Given the description of an element on the screen output the (x, y) to click on. 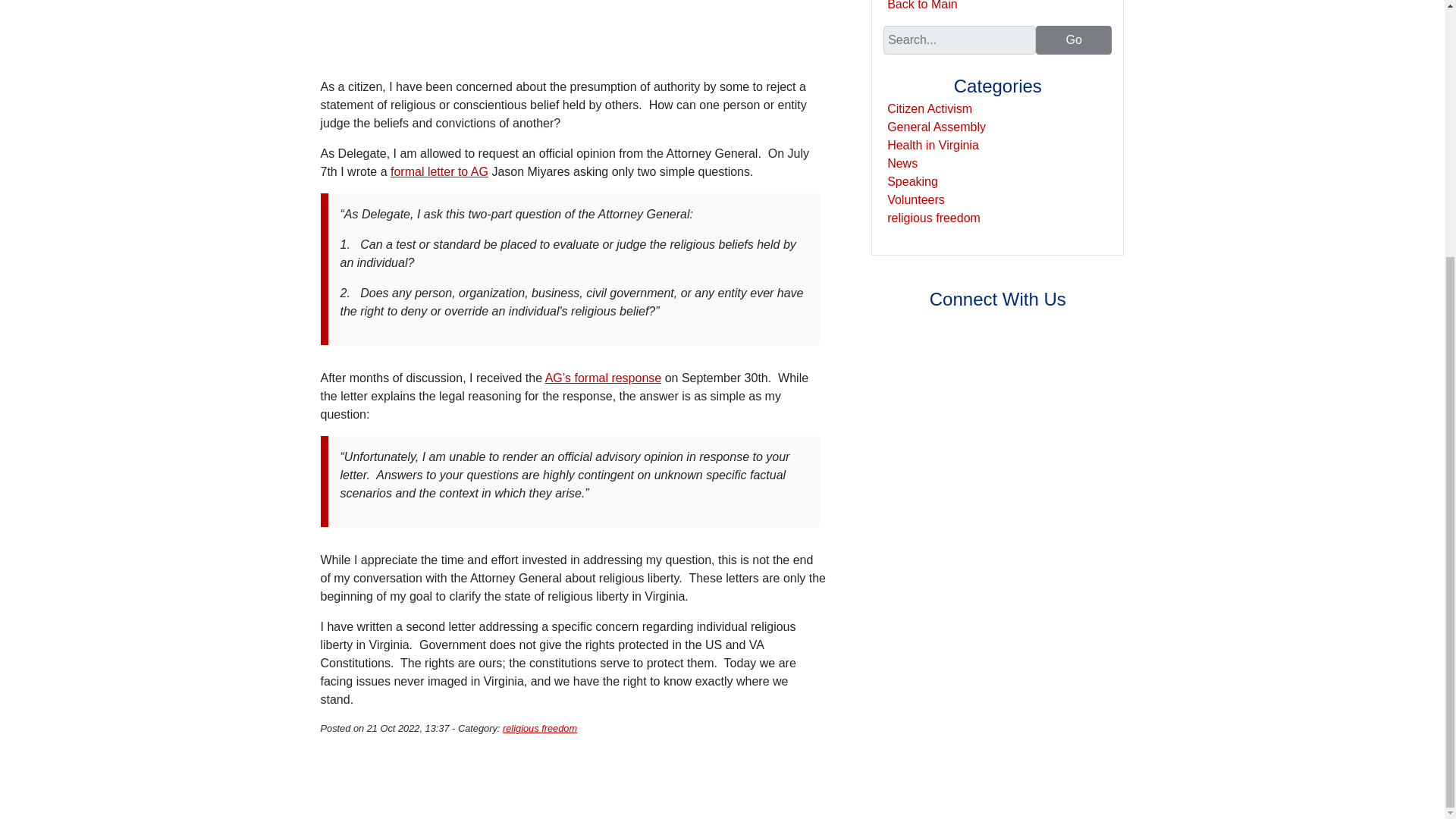
formal letter to AG (438, 171)
General Assembly (935, 126)
religious freedom (539, 727)
Back to Main (921, 5)
Go (1073, 39)
Speaking (911, 181)
Go (1073, 39)
religious freedom (932, 217)
Volunteers (915, 199)
Citizen Activism (929, 108)
